Given the description of an element on the screen output the (x, y) to click on. 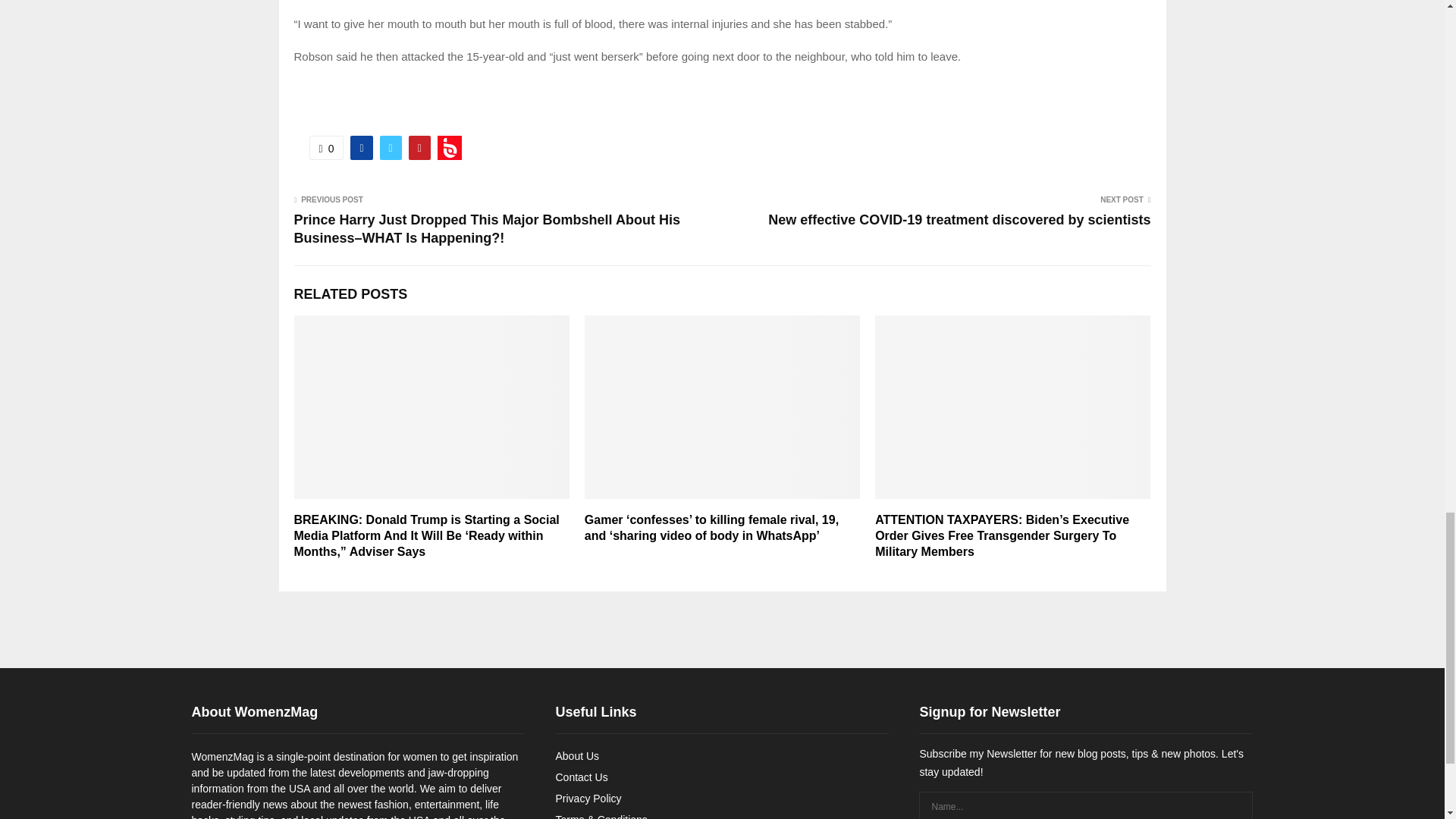
0 (325, 147)
New effective COVID-19 treatment discovered by scientists (959, 219)
